Given the description of an element on the screen output the (x, y) to click on. 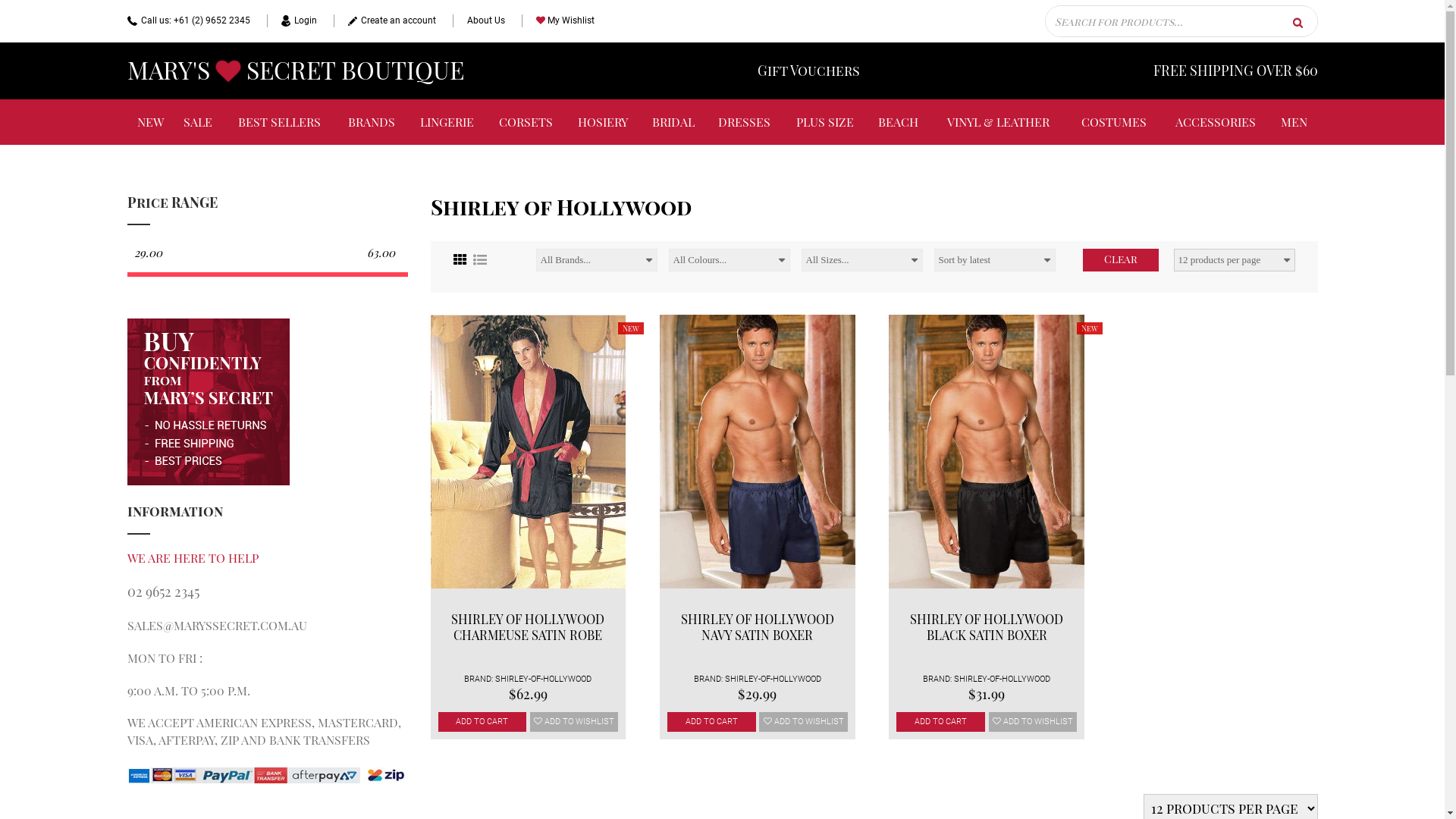
Gift Vouchers Element type: text (807, 70)
ADD TO CART Element type: text (482, 721)
About Us Element type: text (477, 20)
LINGERIE Element type: text (446, 121)
BEST SELLERS Element type: text (279, 121)
SHIRLEY OF HOLLYWOOD NAVY SATIN BOXER Element type: text (757, 626)
BEACH Element type: text (897, 121)
VINYL & LEATHER Element type: text (997, 121)
MEN Element type: text (1293, 121)
SHIRLEY OF HOLLYWOOD BLACK SATIN BOXER Element type: text (986, 626)
SALES@MARYSSECRET.COM.AU Element type: text (217, 625)
ADD TO WISHLIST Element type: text (803, 721)
MARY'S SECRET BOUTIQUE Element type: text (295, 70)
SALE Element type: text (197, 121)
COSTUMES Element type: text (1112, 121)
Clear Element type: text (1120, 259)
BRIDAL Element type: text (672, 121)
SHIRLEY OF HOLLYWOOD CHARMEUSE SATIN ROBE Element type: text (527, 626)
Login Element type: text (291, 20)
NEW Element type: text (150, 121)
PLUS SIZE Element type: text (824, 121)
ACCESSORIES Element type: text (1215, 121)
Call us: +61 (2) 9652 2345 Element type: text (188, 20)
Create an account Element type: text (384, 20)
HOSIERY Element type: text (602, 121)
ADD TO WISHLIST Element type: text (1032, 721)
ADD TO CART Element type: text (711, 721)
ADD TO CART Element type: text (940, 721)
DRESSES Element type: text (744, 121)
ADD TO WISHLIST Element type: text (574, 721)
CORSETS Element type: text (525, 121)
BRANDS Element type: text (371, 121)
My Wishlist Element type: text (557, 20)
